Given the description of an element on the screen output the (x, y) to click on. 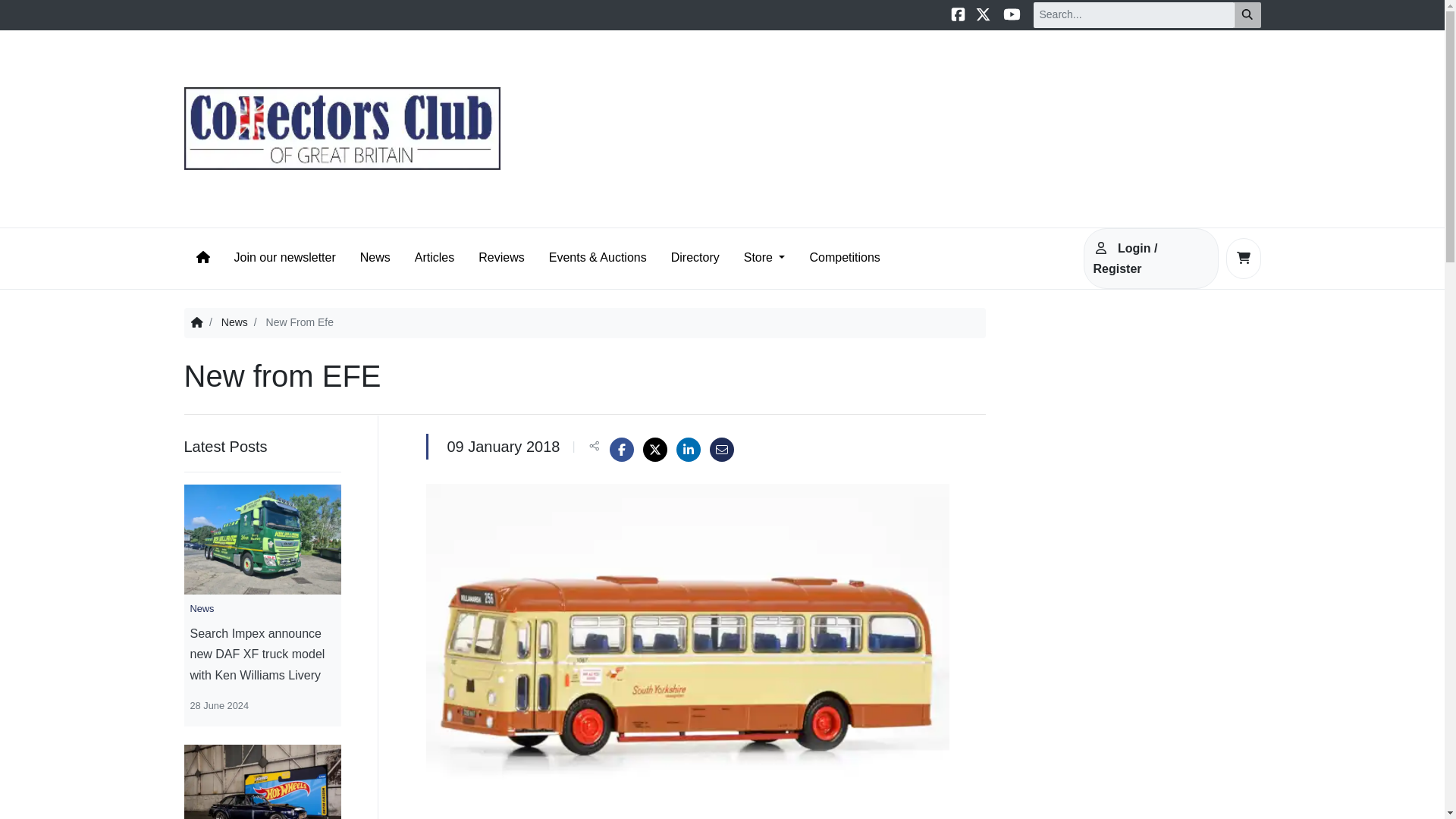
Articles (434, 257)
Store (765, 257)
Join our newsletter (283, 257)
News (374, 257)
Competitions (844, 257)
Directory (695, 257)
News (234, 322)
Reviews (500, 257)
